Given the description of an element on the screen output the (x, y) to click on. 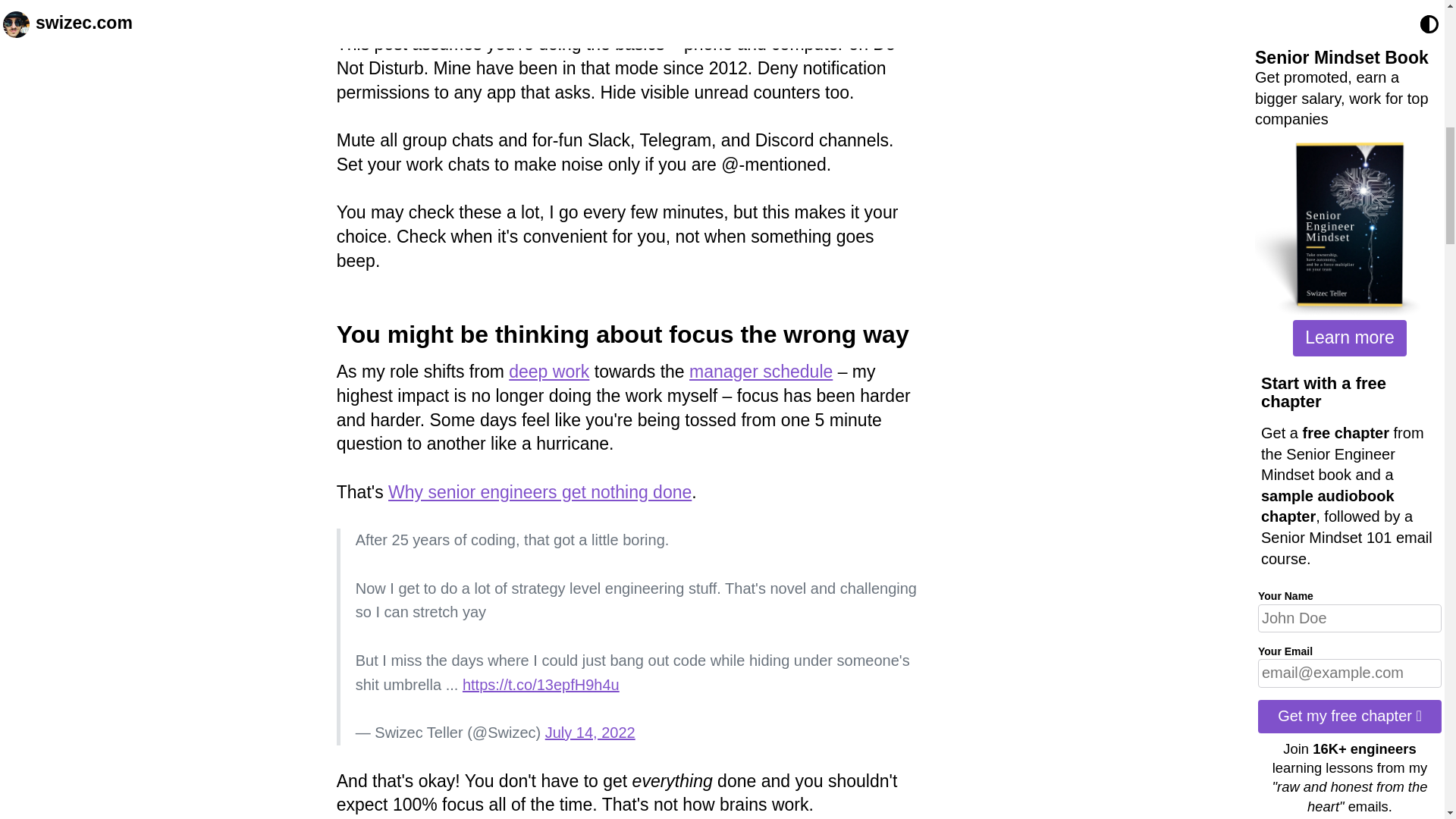
July 14, 2022 (589, 732)
You might be thinking about focus the wrong way (622, 334)
Why senior engineers get nothing done (539, 492)
deep work (548, 371)
The basics (398, 10)
manager schedule (760, 371)
